Given the description of an element on the screen output the (x, y) to click on. 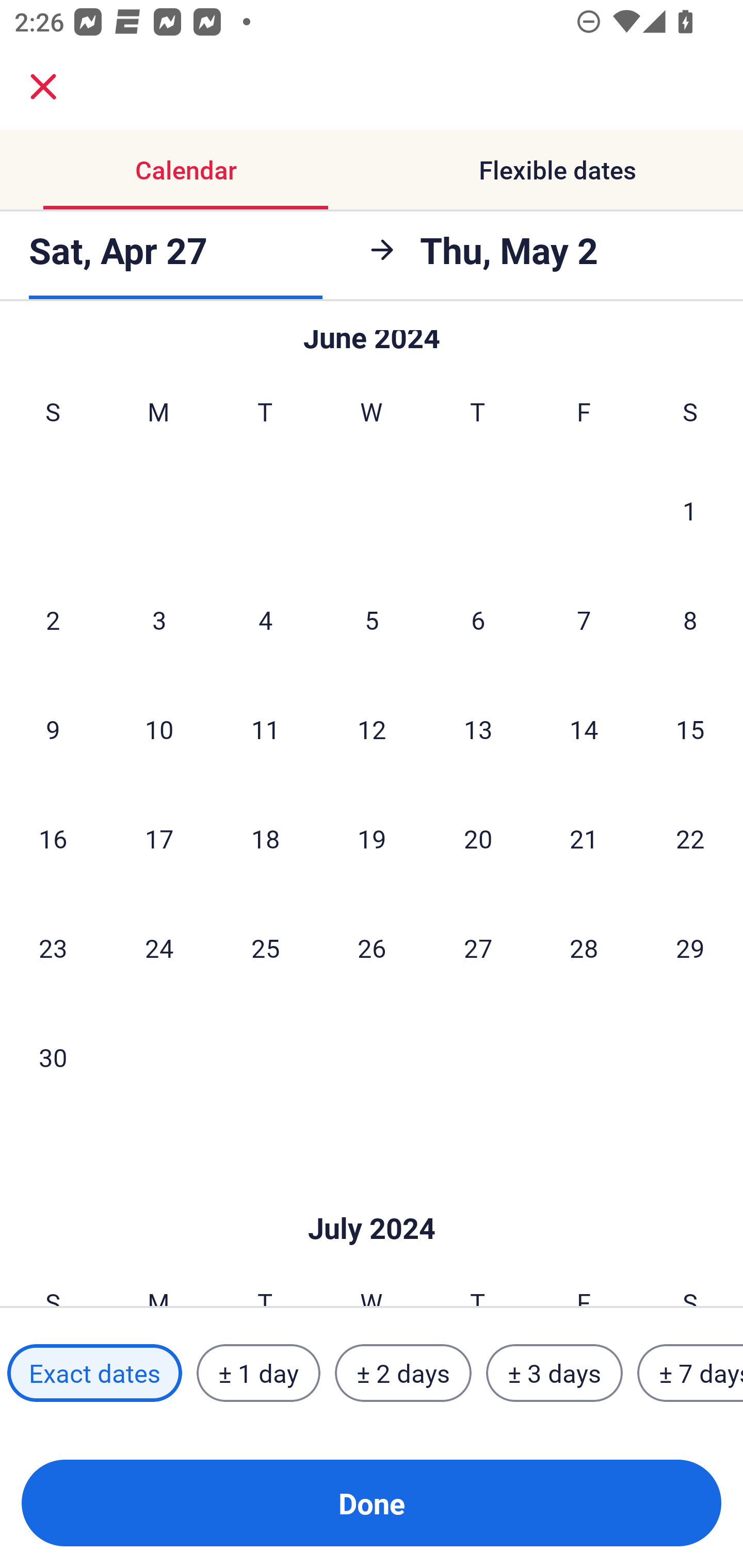
close. (43, 86)
Flexible dates (557, 170)
1 Saturday, June 1, 2024 (689, 509)
2 Sunday, June 2, 2024 (53, 619)
3 Monday, June 3, 2024 (159, 619)
4 Tuesday, June 4, 2024 (265, 619)
5 Wednesday, June 5, 2024 (371, 619)
6 Thursday, June 6, 2024 (477, 619)
7 Friday, June 7, 2024 (584, 619)
8 Saturday, June 8, 2024 (690, 619)
9 Sunday, June 9, 2024 (53, 728)
10 Monday, June 10, 2024 (159, 728)
11 Tuesday, June 11, 2024 (265, 728)
12 Wednesday, June 12, 2024 (371, 728)
13 Thursday, June 13, 2024 (477, 728)
14 Friday, June 14, 2024 (584, 728)
15 Saturday, June 15, 2024 (690, 728)
16 Sunday, June 16, 2024 (53, 837)
17 Monday, June 17, 2024 (159, 837)
18 Tuesday, June 18, 2024 (265, 837)
19 Wednesday, June 19, 2024 (371, 837)
20 Thursday, June 20, 2024 (477, 837)
21 Friday, June 21, 2024 (584, 837)
22 Saturday, June 22, 2024 (690, 837)
23 Sunday, June 23, 2024 (53, 947)
24 Monday, June 24, 2024 (159, 947)
25 Tuesday, June 25, 2024 (265, 947)
26 Wednesday, June 26, 2024 (371, 947)
27 Thursday, June 27, 2024 (477, 947)
28 Friday, June 28, 2024 (584, 947)
29 Saturday, June 29, 2024 (690, 947)
30 Sunday, June 30, 2024 (53, 1056)
Skip to Done (371, 1197)
Exact dates (94, 1372)
± 1 day (258, 1372)
± 2 days (403, 1372)
± 3 days (553, 1372)
± 7 days (690, 1372)
Done (371, 1502)
